Given the description of an element on the screen output the (x, y) to click on. 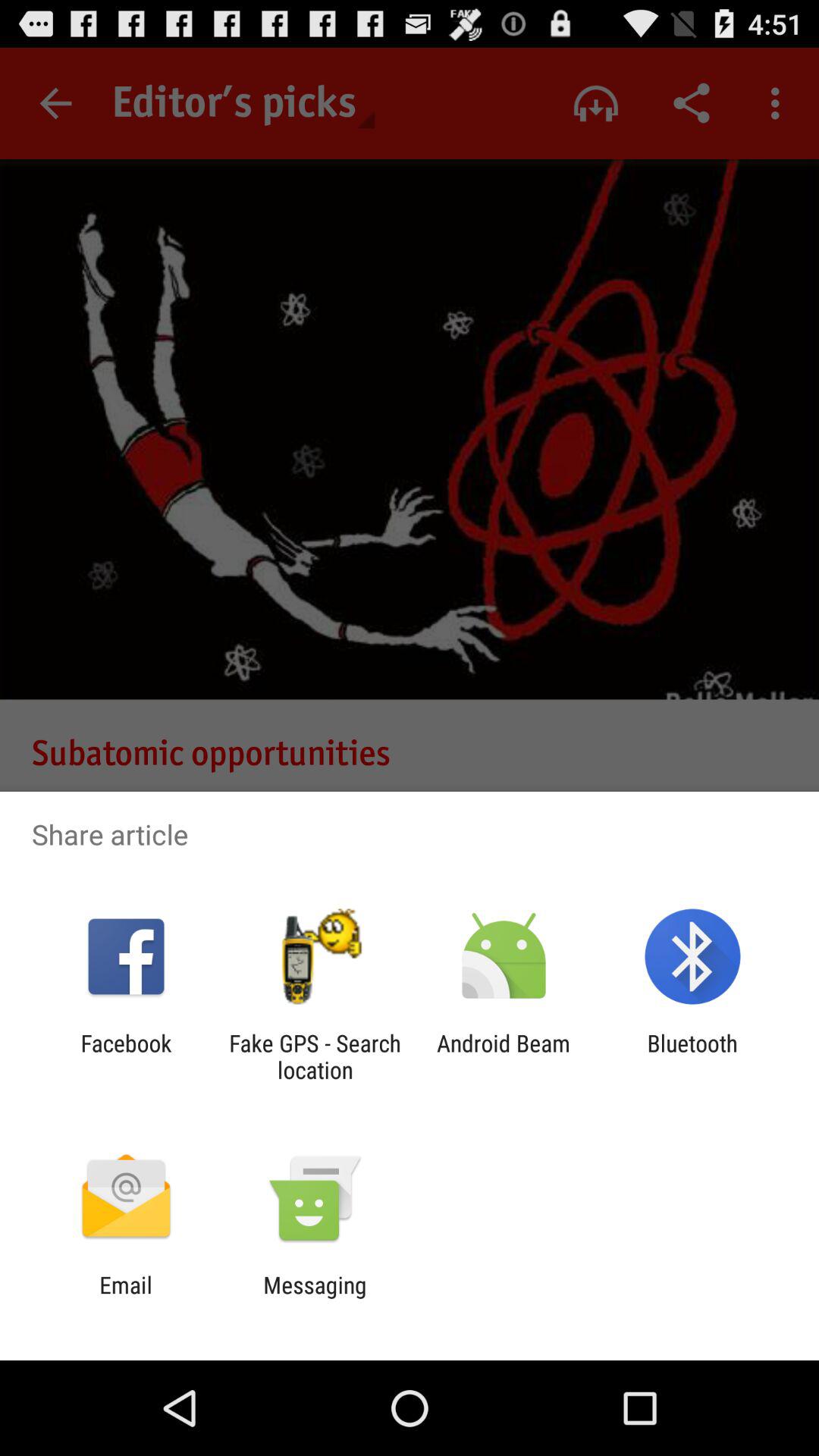
click the item next to the android beam (314, 1056)
